Given the description of an element on the screen output the (x, y) to click on. 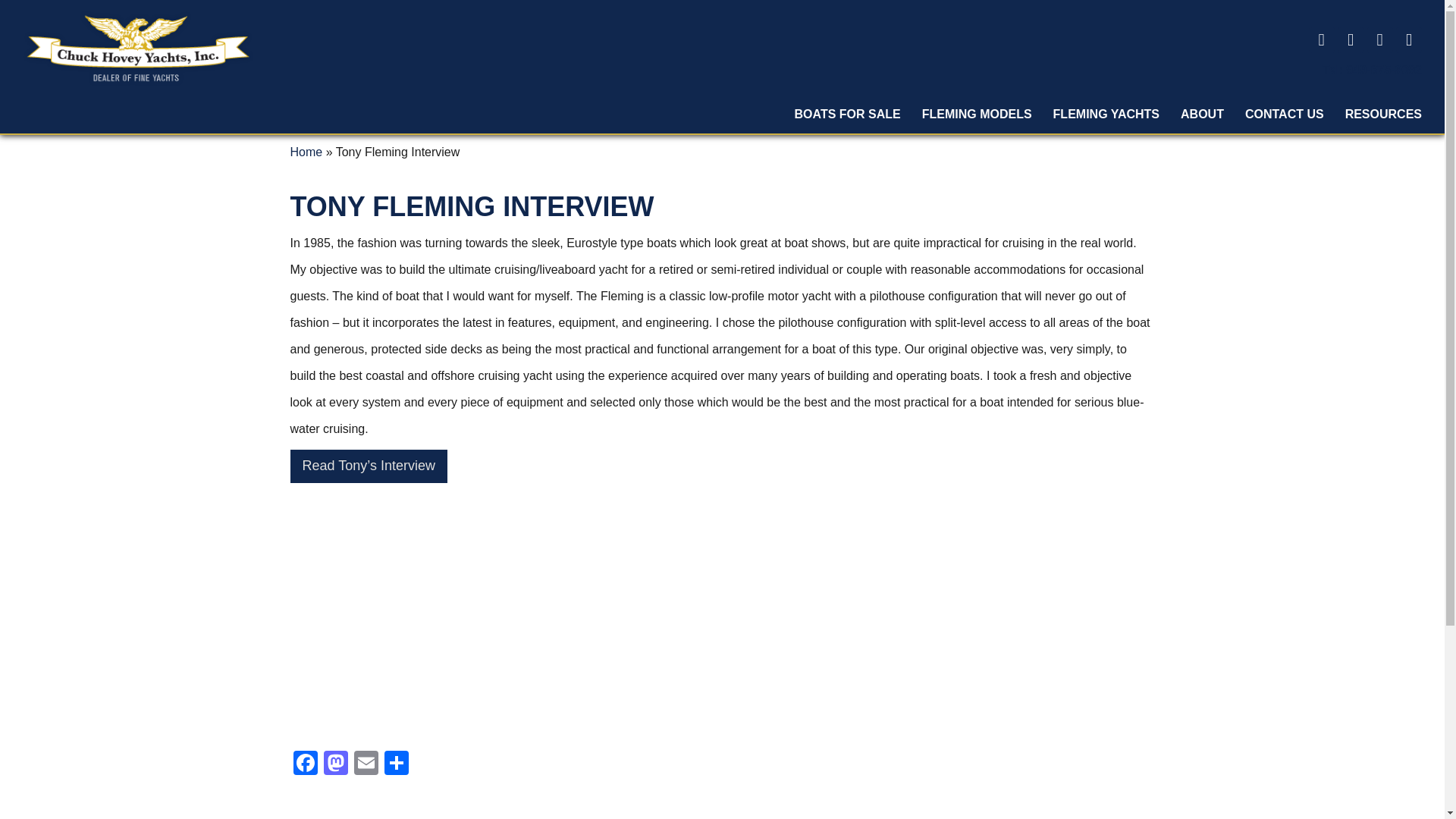
Resources (1383, 115)
Social media, instagram link (1380, 40)
Email (365, 764)
RESOURCES (1383, 115)
Social media, linkedin link (1409, 40)
Mastodon (335, 764)
Boats For Sale (847, 115)
Facebook (304, 764)
FLEMING MODELS (976, 115)
Fleming Yachts (1106, 115)
